Given the description of an element on the screen output the (x, y) to click on. 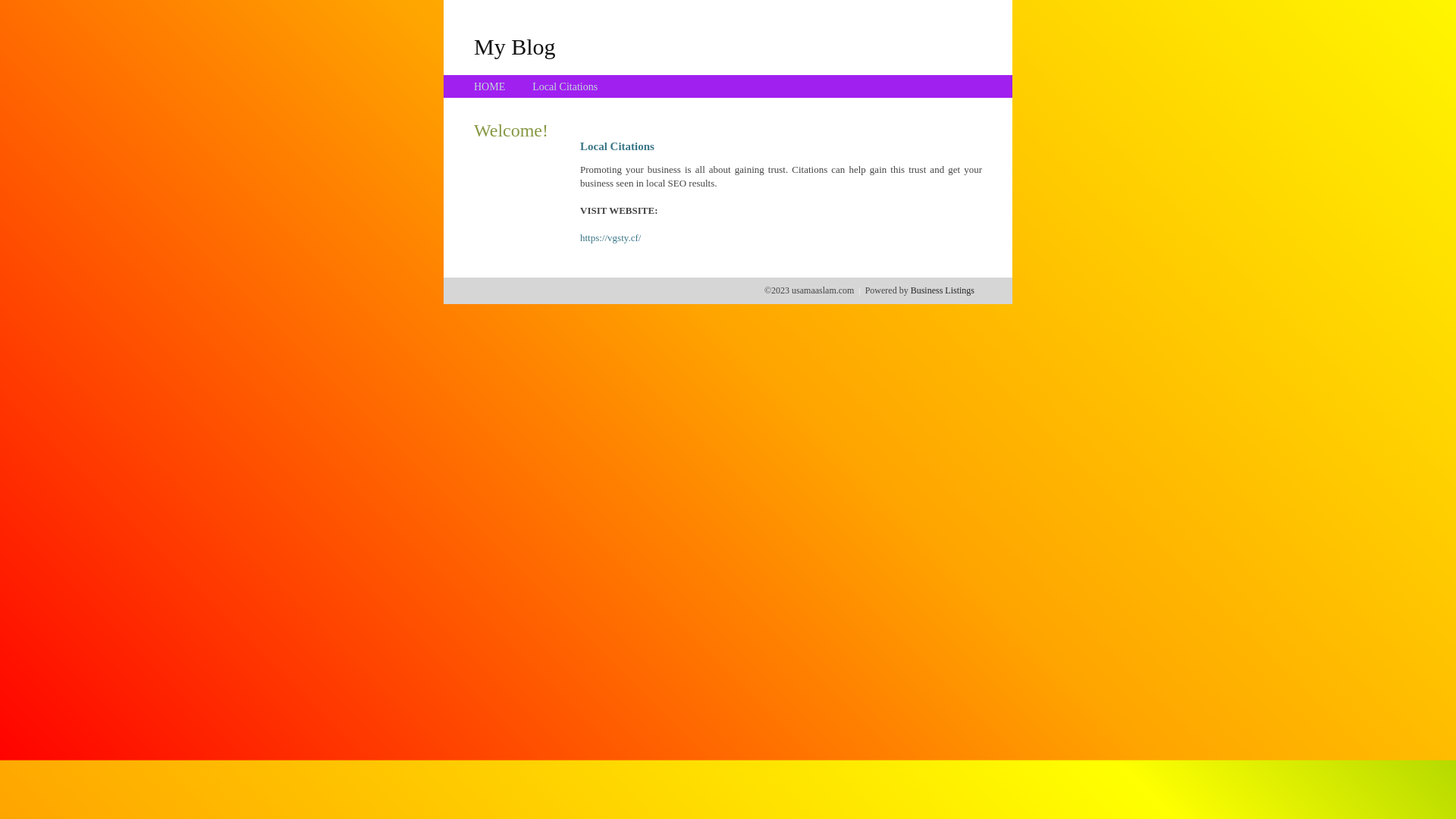
Local Citations Element type: text (564, 86)
https://vgsty.cf/ Element type: text (610, 237)
My Blog Element type: text (514, 46)
HOME Element type: text (489, 86)
Business Listings Element type: text (942, 290)
